Given the description of an element on the screen output the (x, y) to click on. 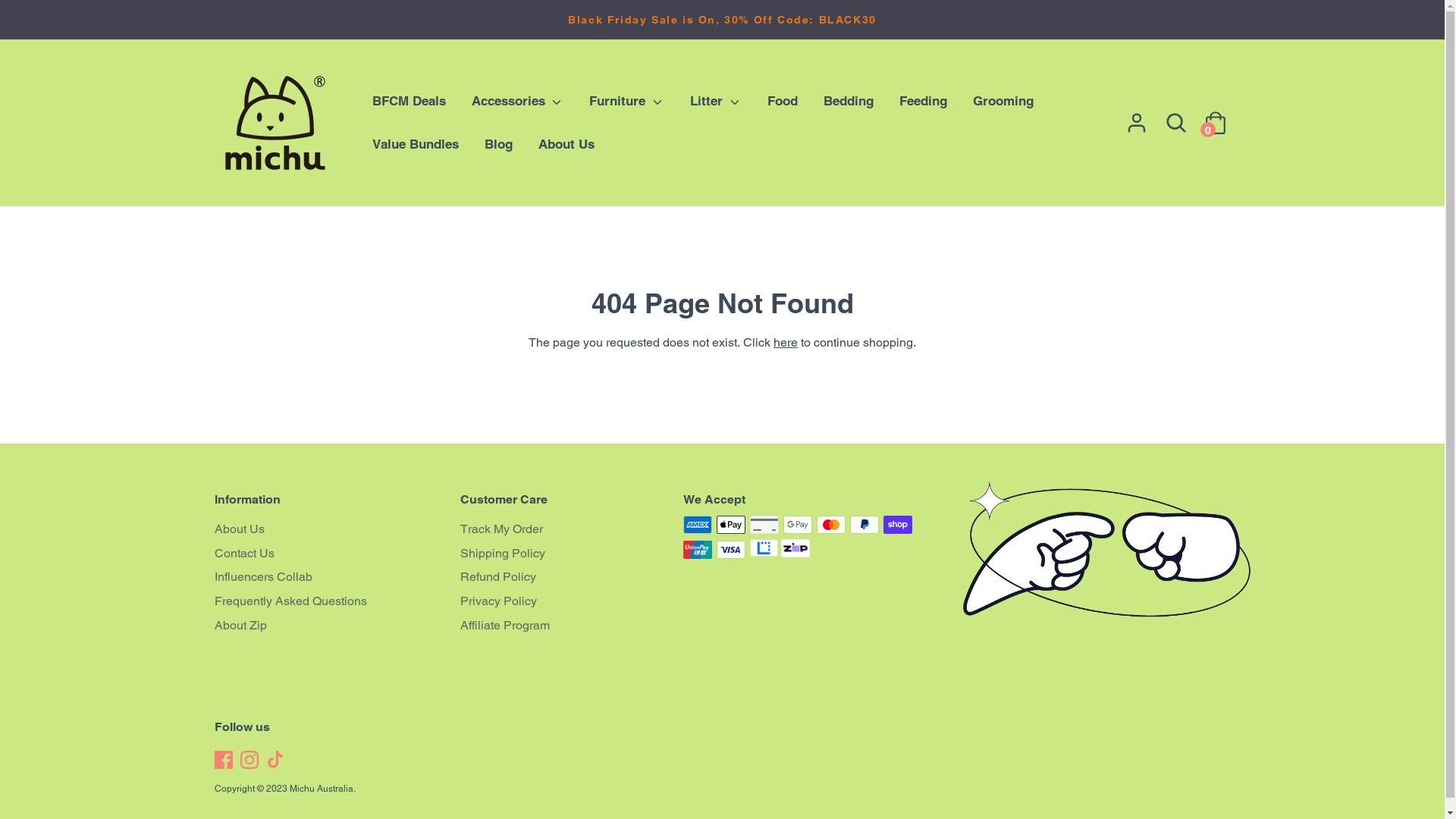
Instagram Element type: hover (249, 759)
Michu Australia Element type: text (321, 788)
Frequently Asked Questions Element type: text (324, 601)
Track My Order Element type: text (571, 529)
Refund Policy Element type: text (571, 576)
here Element type: text (785, 342)
Privacy Policy Element type: text (571, 601)
Customer Care Element type: text (571, 500)
About Zip Element type: text (324, 625)
Bedding Element type: text (848, 100)
About Us Element type: text (324, 529)
Contact Us Element type: text (324, 553)
Feeding Element type: text (923, 100)
Tiktok Element type: hover (275, 759)
Affiliate Program Element type: text (571, 625)
Information Element type: text (324, 500)
Furniture Element type: text (626, 100)
Facebook Element type: hover (224, 759)
Accessories Element type: text (516, 100)
Value Bundles Element type: text (415, 144)
About Us Element type: text (565, 144)
Food Element type: text (782, 100)
Influencers Collab Element type: text (324, 576)
Shipping Policy Element type: text (571, 553)
BFCM Deals Element type: text (408, 100)
Litter Element type: text (715, 100)
Grooming Element type: text (1002, 100)
Blog Element type: text (498, 144)
Search Element type: text (1175, 122)
0 Element type: text (1214, 116)
